Given the description of an element on the screen output the (x, y) to click on. 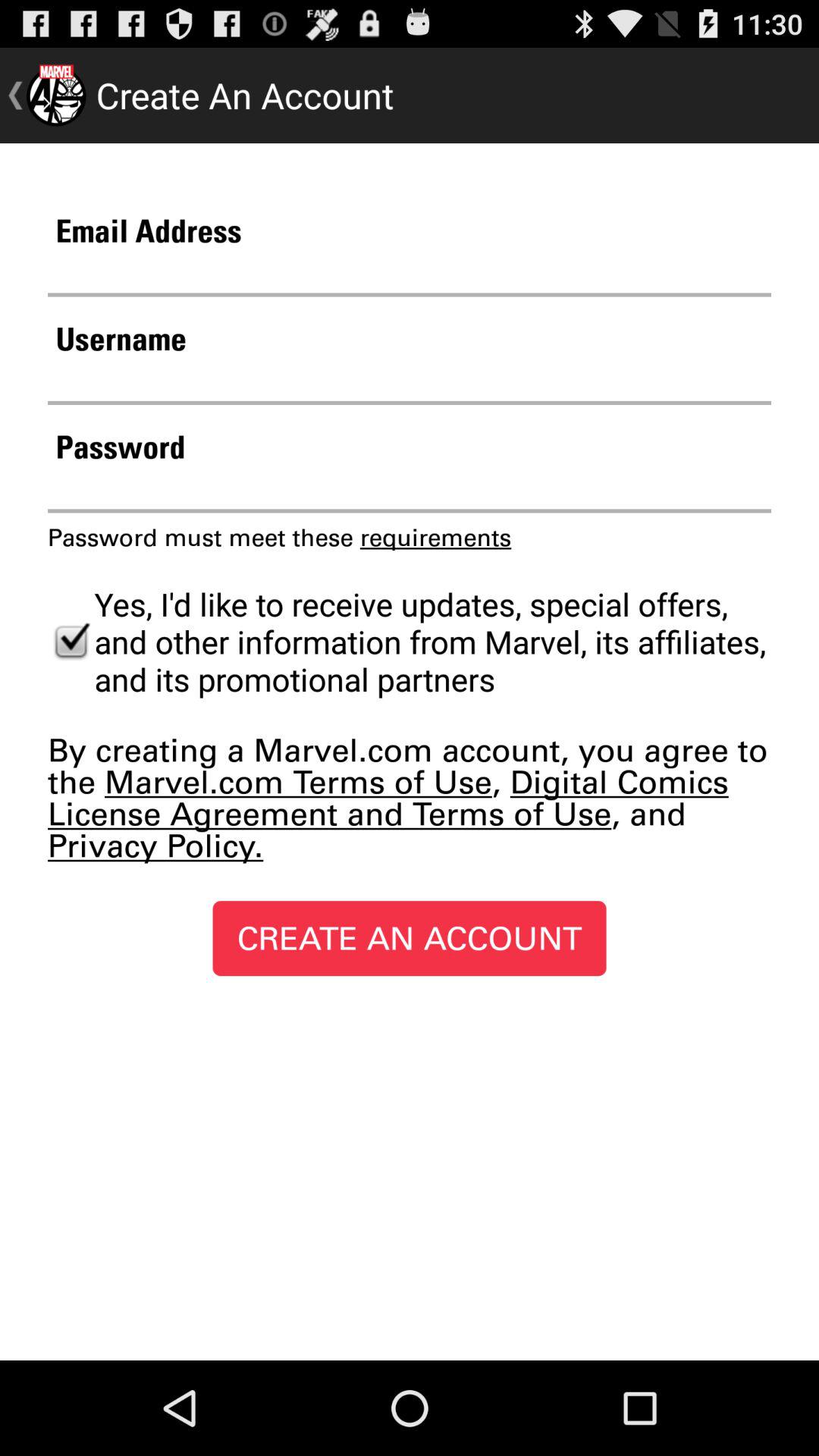
enter password (409, 489)
